Given the description of an element on the screen output the (x, y) to click on. 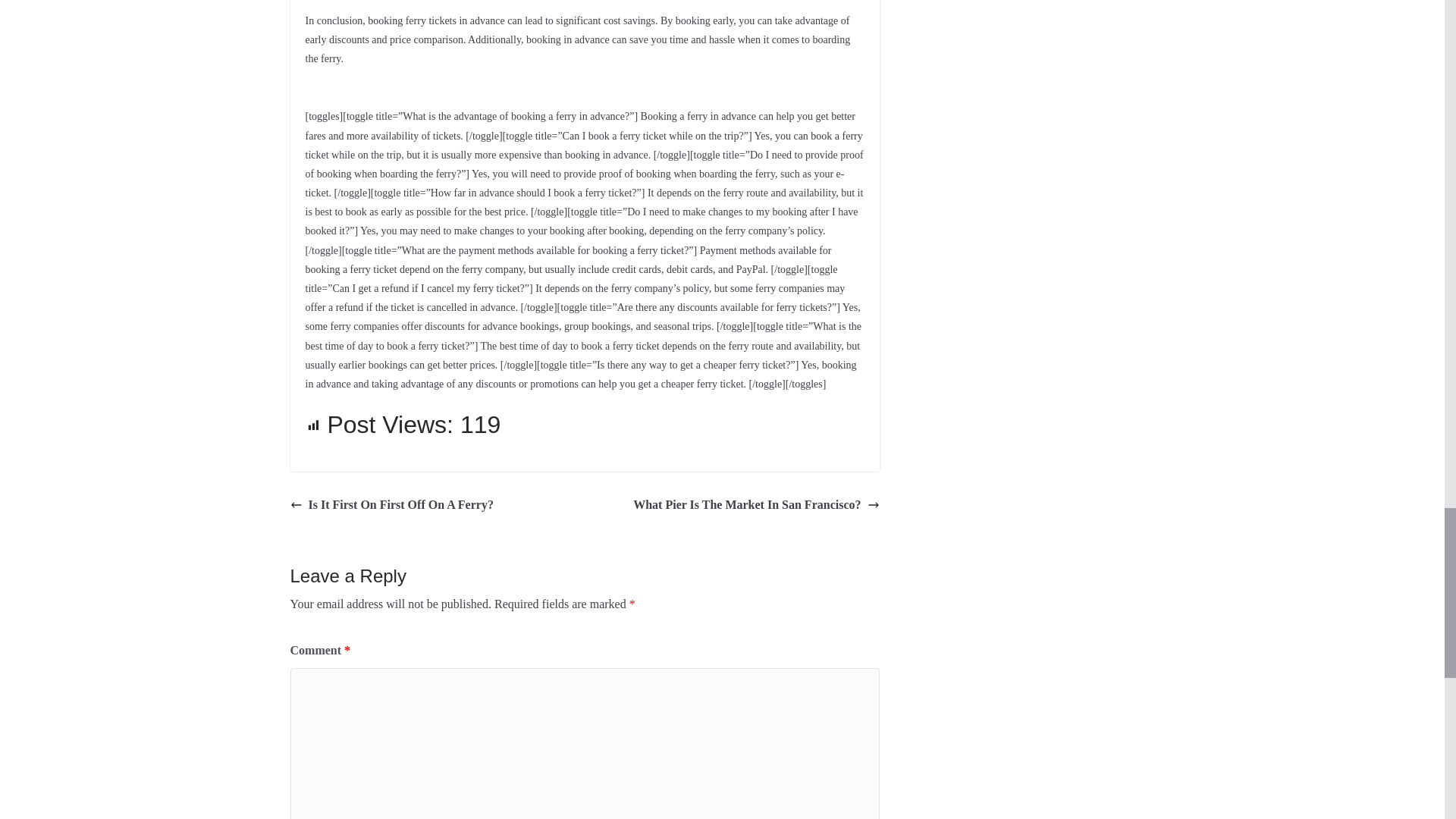
Is It First On First Off On A Ferry? (391, 505)
What Pier Is The Market In San Francisco? (756, 505)
